Given the description of an element on the screen output the (x, y) to click on. 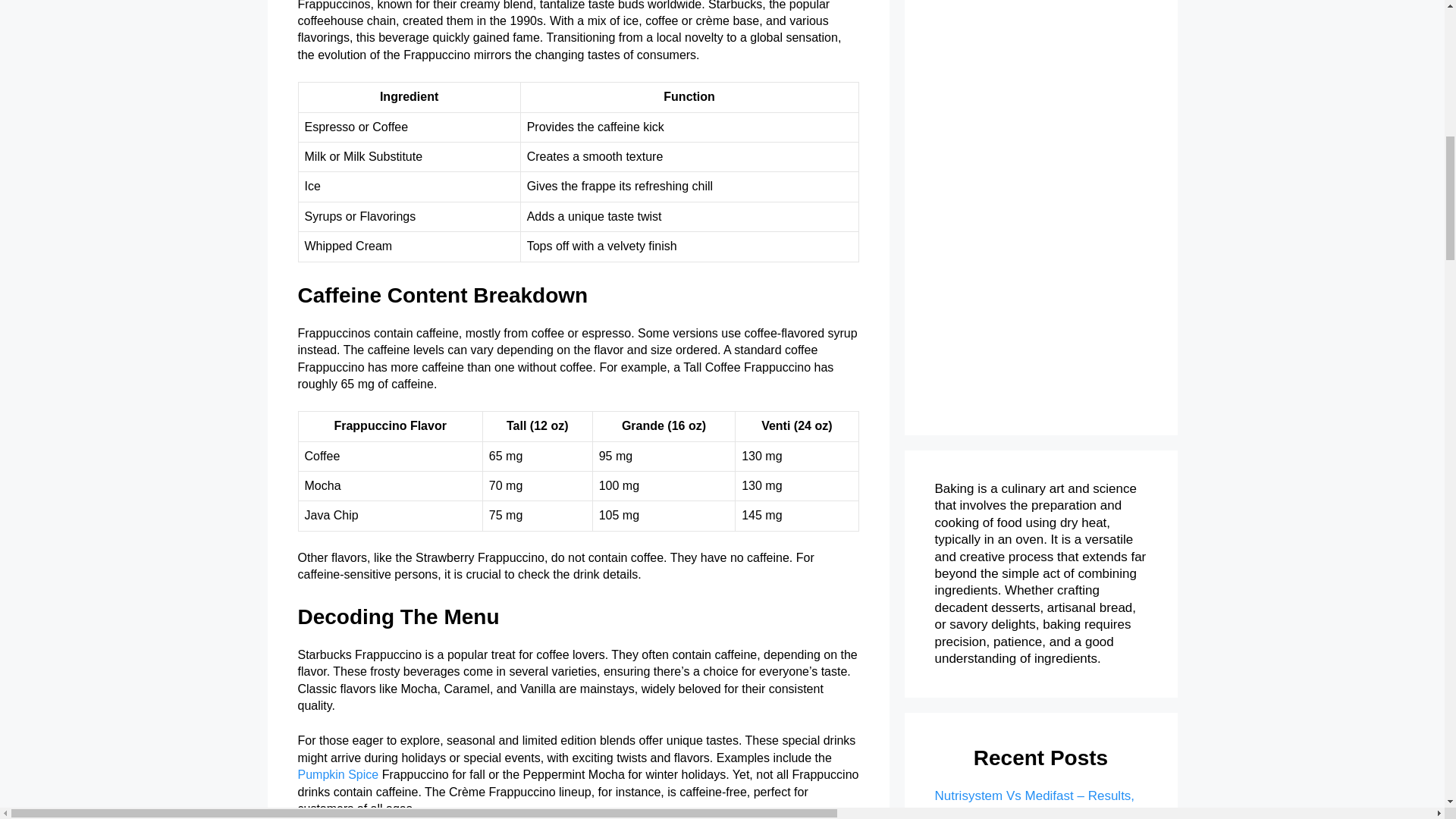
Pumpkin Spice (337, 774)
